Given the description of an element on the screen output the (x, y) to click on. 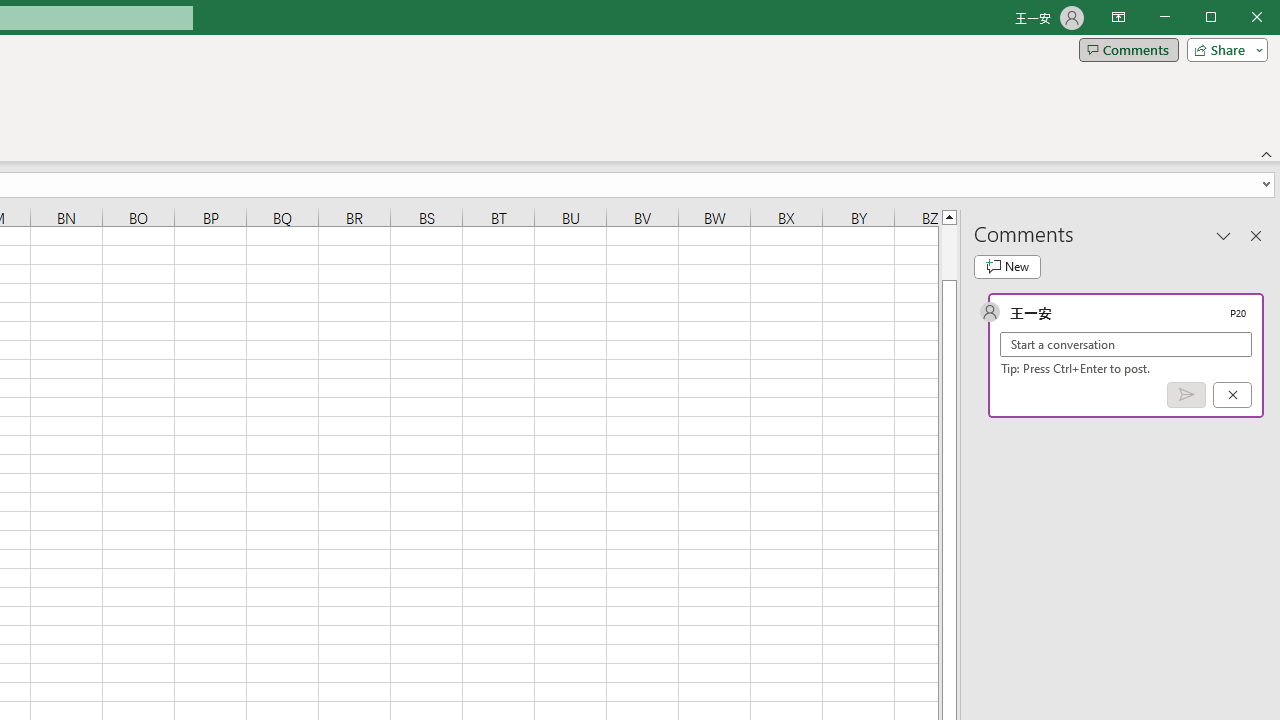
Cancel (1232, 395)
